Given the description of an element on the screen output the (x, y) to click on. 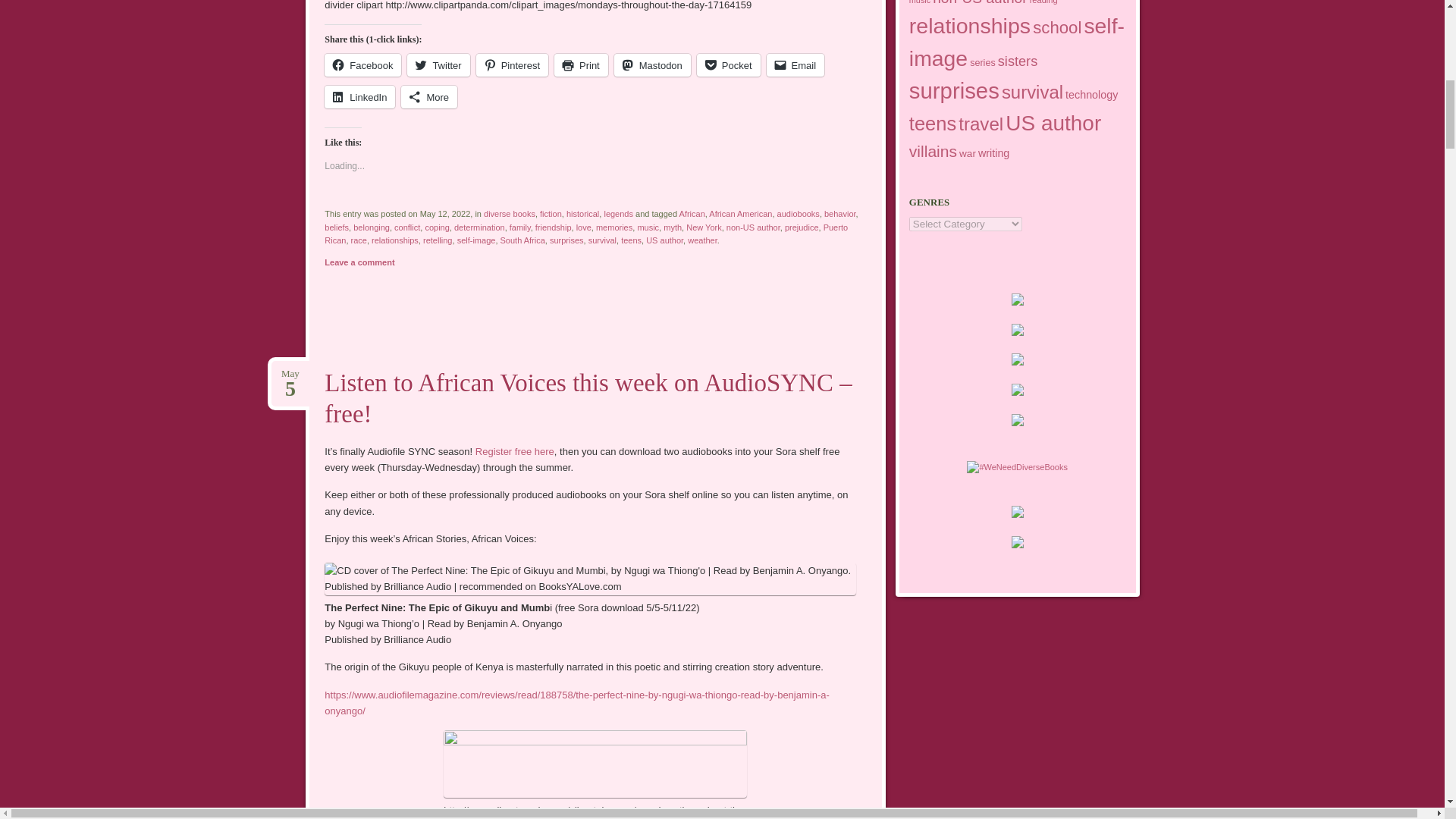
Click to print (581, 65)
Twitter (437, 65)
Pocket (728, 65)
beliefs (336, 226)
African (691, 213)
African American (740, 213)
Click to share on Mastodon (652, 65)
Click to share on Facebook (362, 65)
Click to share on LinkedIn (359, 96)
LinkedIn (359, 96)
